Given the description of an element on the screen output the (x, y) to click on. 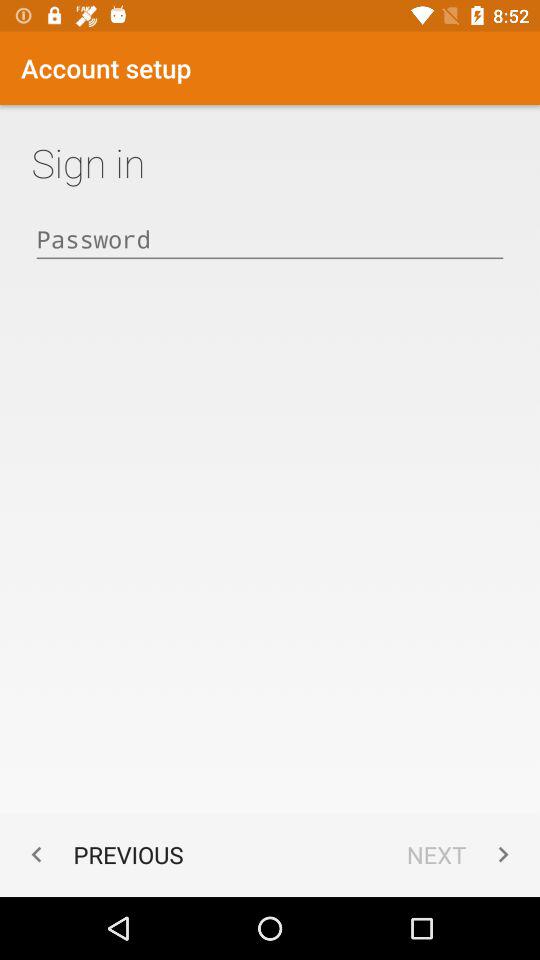
jump to previous app (102, 854)
